Given the description of an element on the screen output the (x, y) to click on. 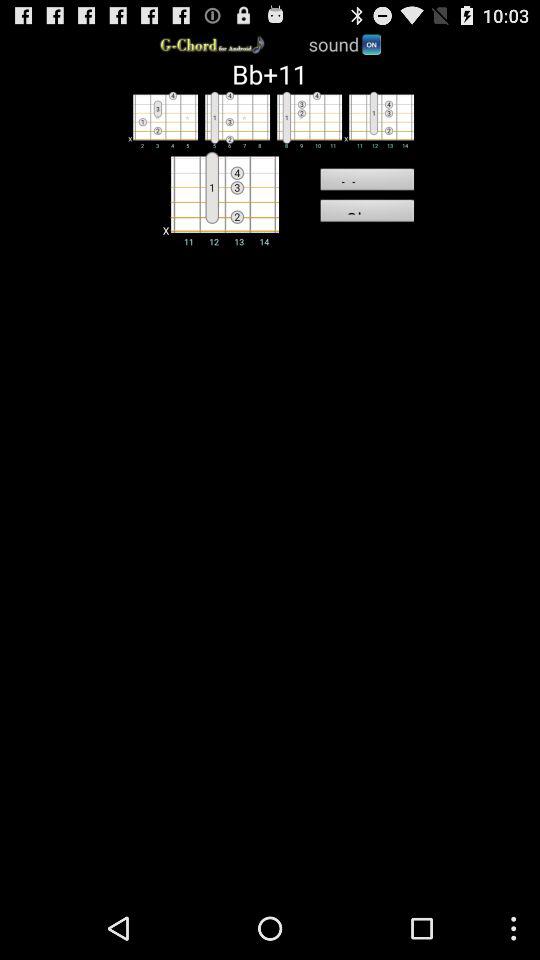
select guitar cord (306, 119)
